Given the description of an element on the screen output the (x, y) to click on. 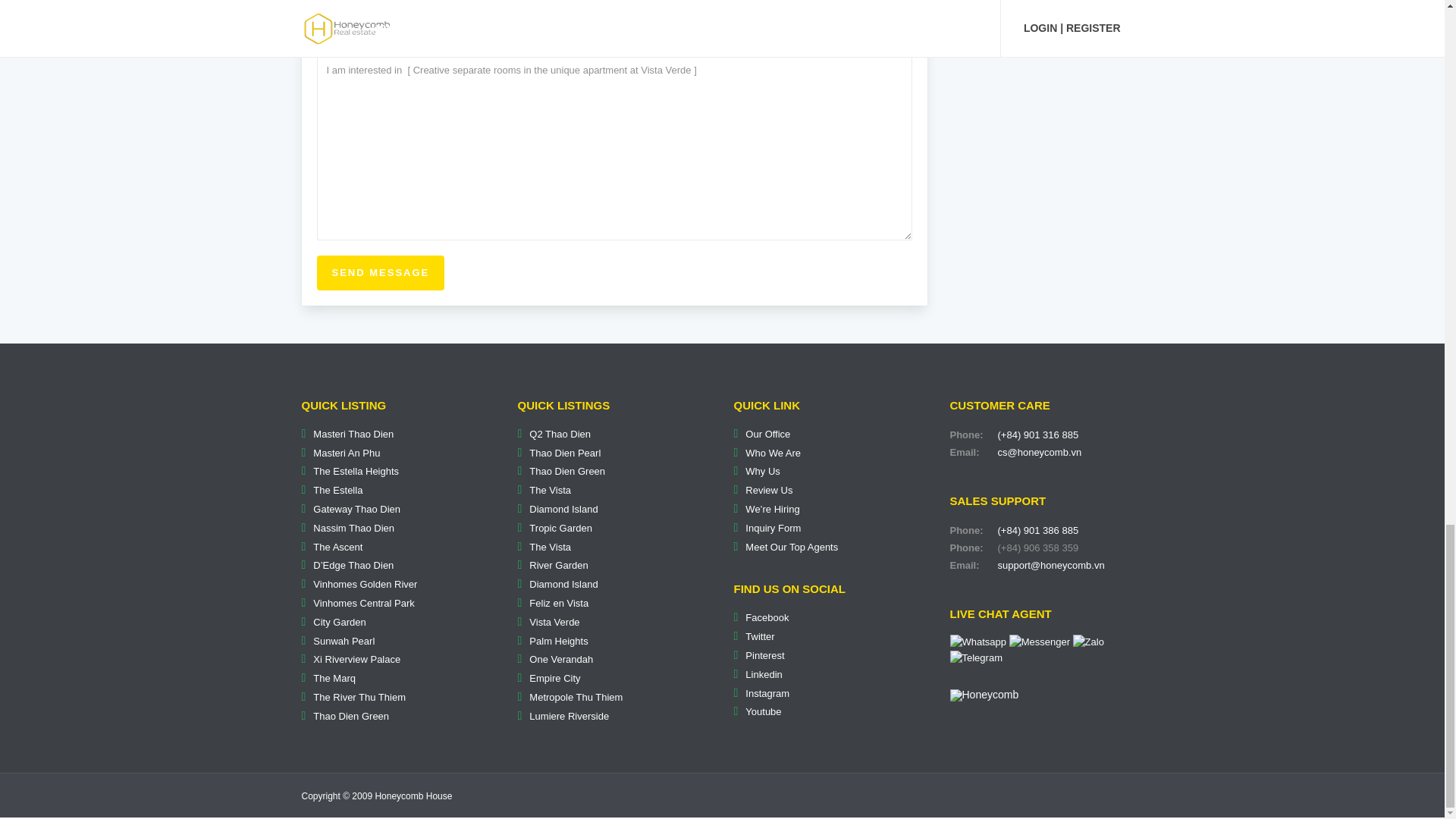
Messenger (1039, 642)
WhatsApp (977, 642)
Send Message (381, 272)
Telegram (975, 657)
Telegram (975, 658)
Messenger (1039, 641)
WhatsApp (977, 641)
Send Message (381, 272)
Zalo (1088, 642)
Zalo (1088, 641)
